Given the description of an element on the screen output the (x, y) to click on. 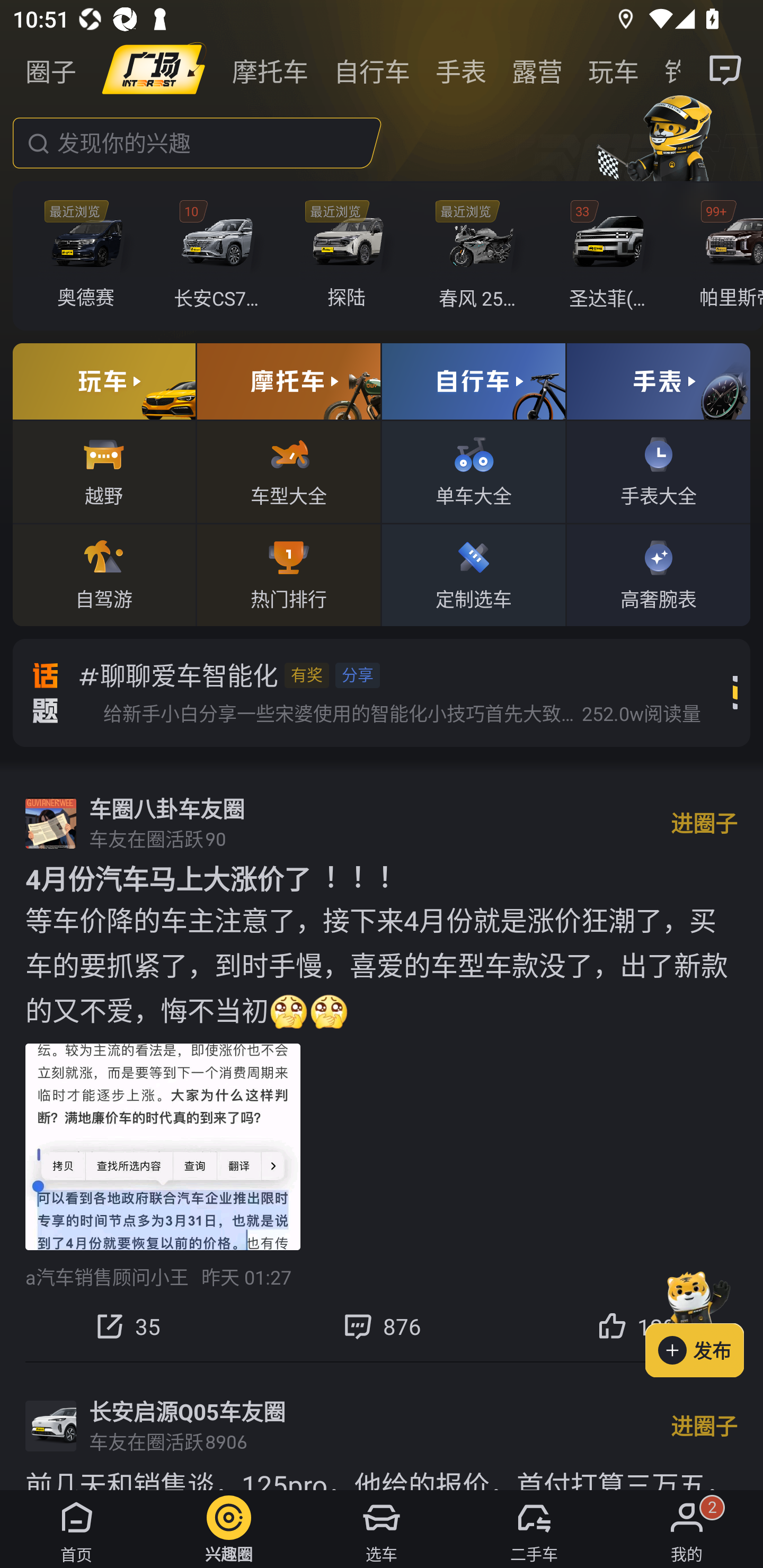
圈子 (50, 69)
image (153, 69)
摩托车 (269, 69)
自行车 (372, 69)
手表 (460, 69)
露营 (537, 69)
玩车 (613, 69)
 (726, 69)
奥德赛 (90, 256)
10 长安CS75 PLUS (220, 256)
探陆 (351, 256)
春风 250SR (481, 256)
33 圣达菲(进口) (611, 256)
99+ 帕里斯帝 (726, 256)
越野 (103, 471)
车型大全 (288, 471)
单车大全 (473, 471)
手表大全 (658, 471)
自驾游 (103, 574)
热门排行 (288, 574)
定制选车 (473, 574)
高奢腕表 (658, 574)
车圈八卦车友圈 车友在圈活跃 90 进圈子 (381, 822)
发布 (704, 1320)
 35 (127, 1326)
 876 (381, 1326)
长安启源Q05车友圈 车友在圈活跃 8906 进圈子 (381, 1425)
 首页 (76, 1528)
兴趣圈 (228, 1528)
 选车 (381, 1528)
 二手车 (533, 1528)
 我的 (686, 1528)
